Given the description of an element on the screen output the (x, y) to click on. 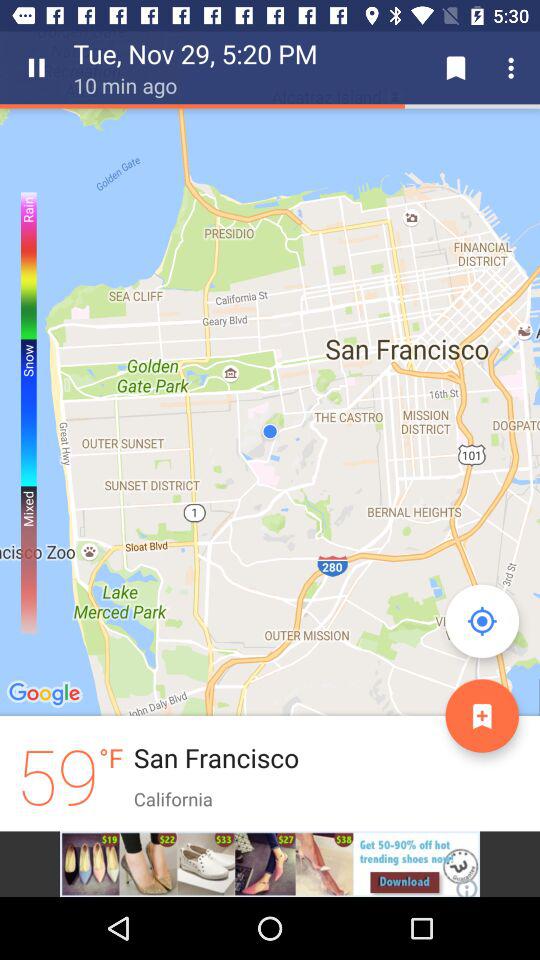
add route (482, 715)
